Given the description of an element on the screen output the (x, y) to click on. 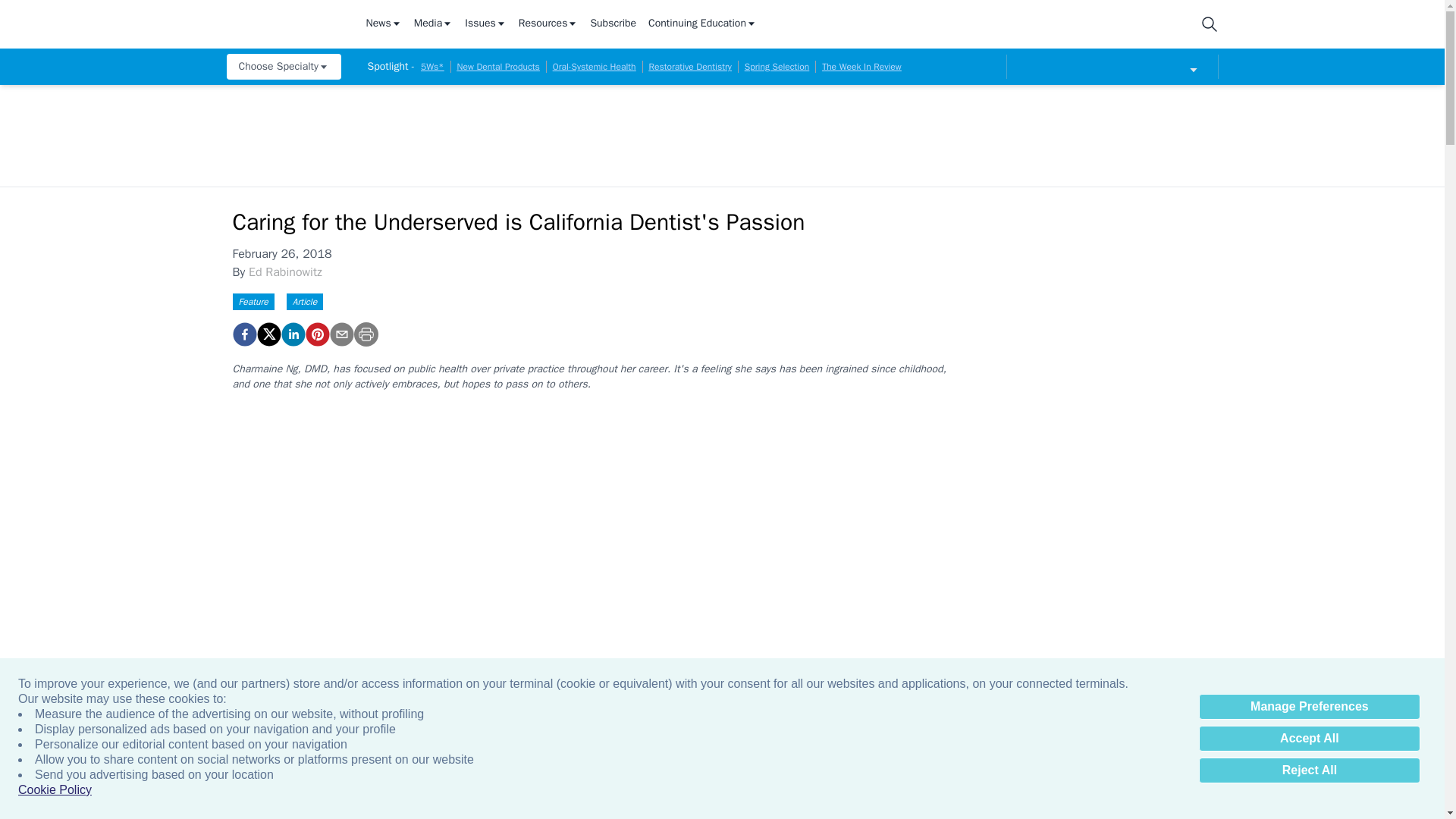
Accept All (1309, 738)
News (383, 23)
Resources (548, 23)
Caring for the Underserved is California Dentist's Passion (243, 334)
Manage Preferences (1309, 706)
Media (432, 23)
Cookie Policy (54, 789)
Subscribe (612, 23)
Reject All (1309, 769)
Issues (485, 23)
